Given the description of an element on the screen output the (x, y) to click on. 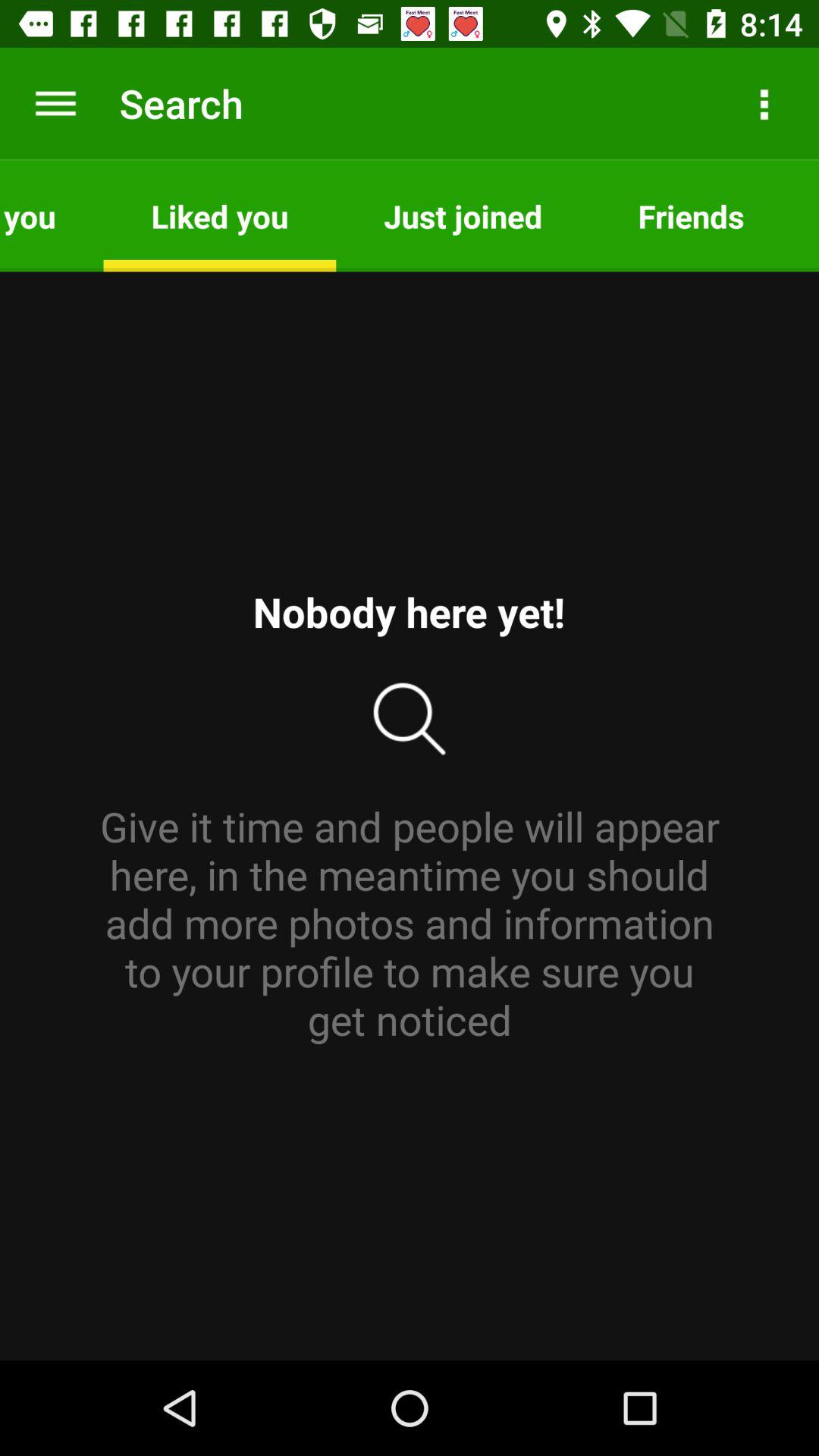
select item next to the just joined (691, 215)
